Given the description of an element on the screen output the (x, y) to click on. 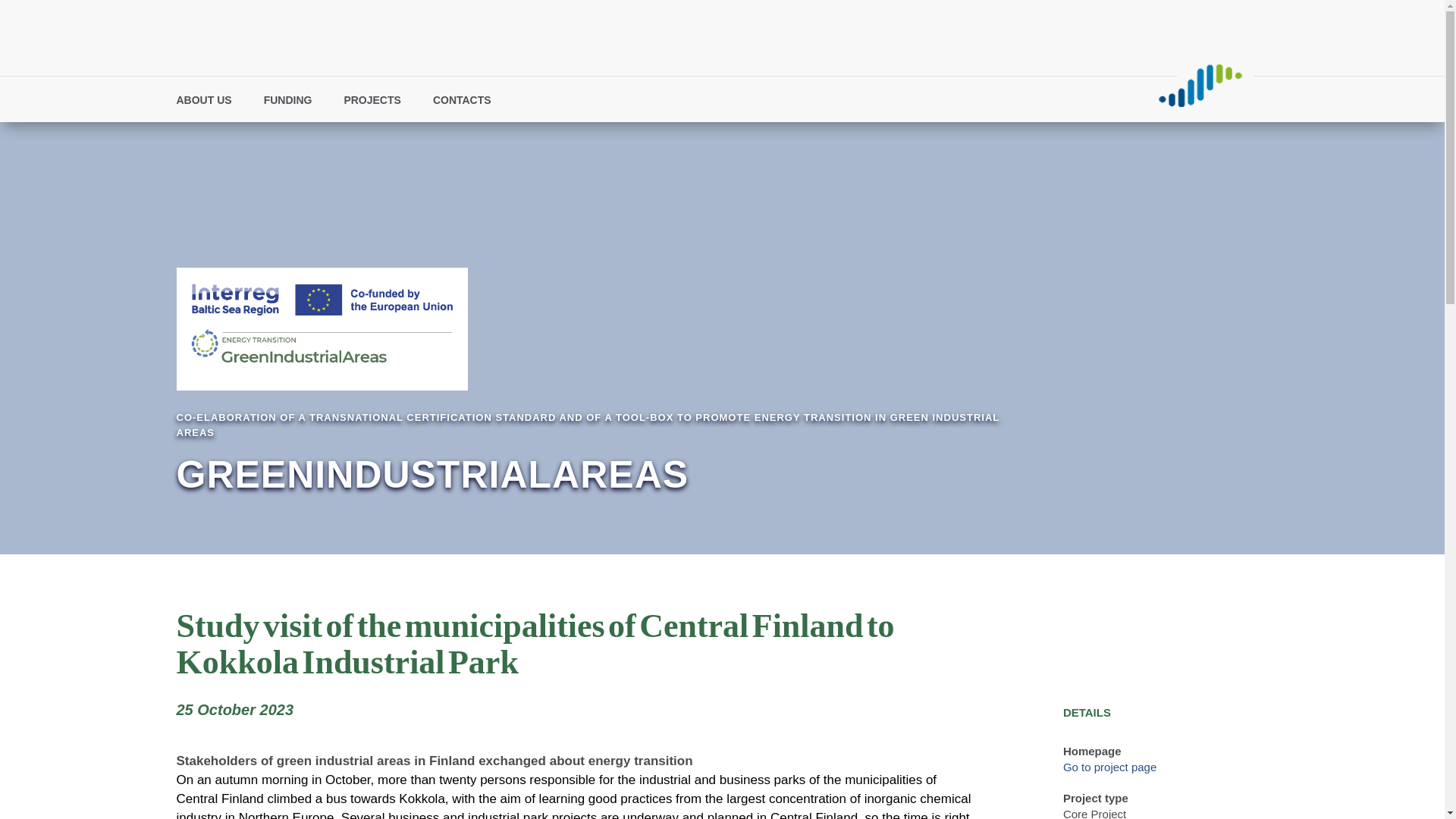
Log in (930, 98)
CONTACTS (469, 103)
FUNDING (295, 103)
VideoBolt-klein (1199, 85)
ABOUT US (211, 103)
Find partners (864, 98)
PROJECTS (378, 103)
